Given the description of an element on the screen output the (x, y) to click on. 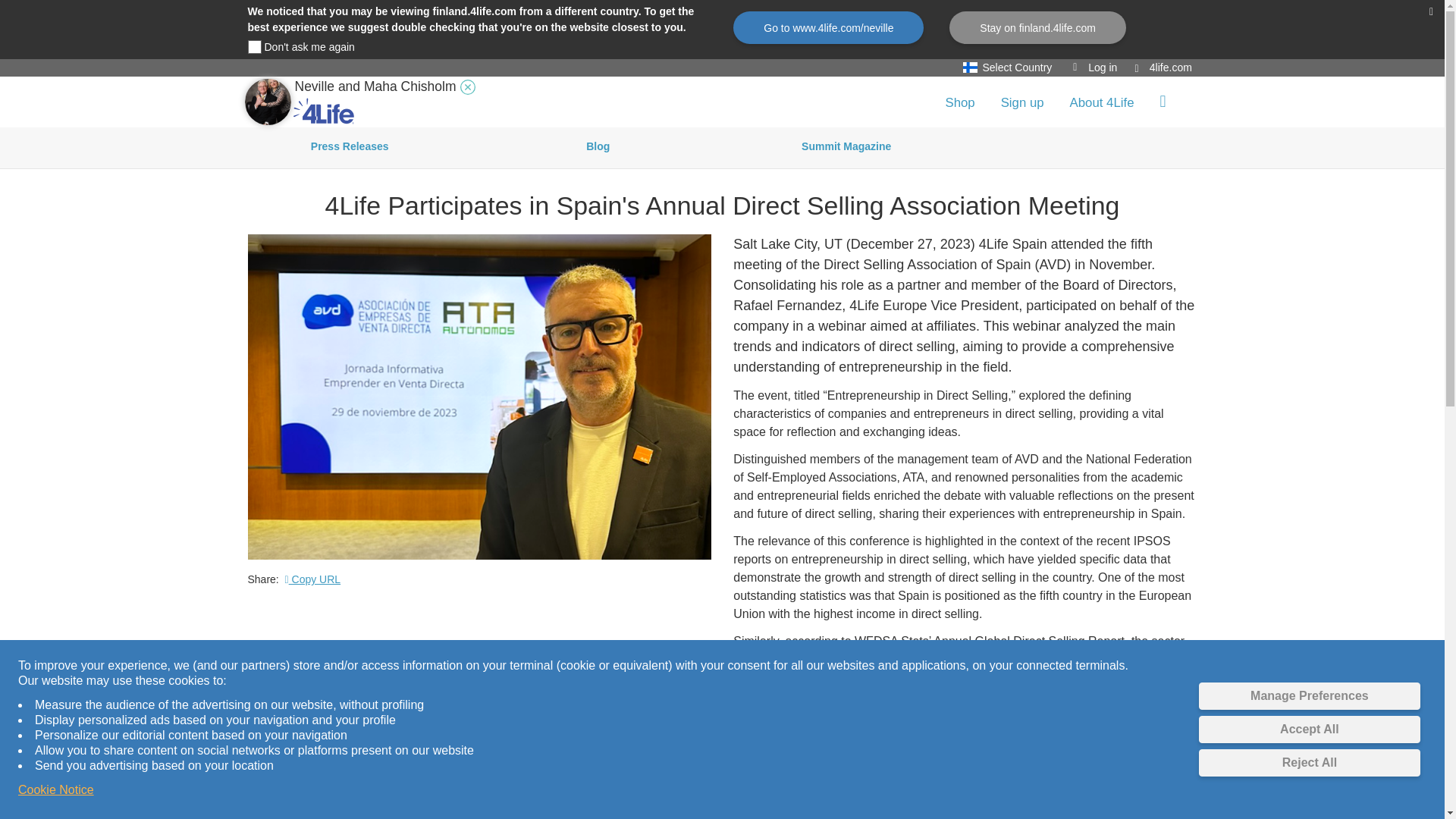
Reject All (1309, 762)
Select Country (1010, 67)
Manage Preferences (1309, 696)
Accept All (1309, 728)
Stay on finland.4life.com (1037, 27)
4life.com (1163, 67)
Cookie Notice (55, 789)
Shop (959, 102)
Summit Magazine (846, 147)
test (253, 47)
Log in (1095, 67)
Sign up (1022, 102)
Press Releases (349, 147)
About 4Life (1102, 102)
